Given the description of an element on the screen output the (x, y) to click on. 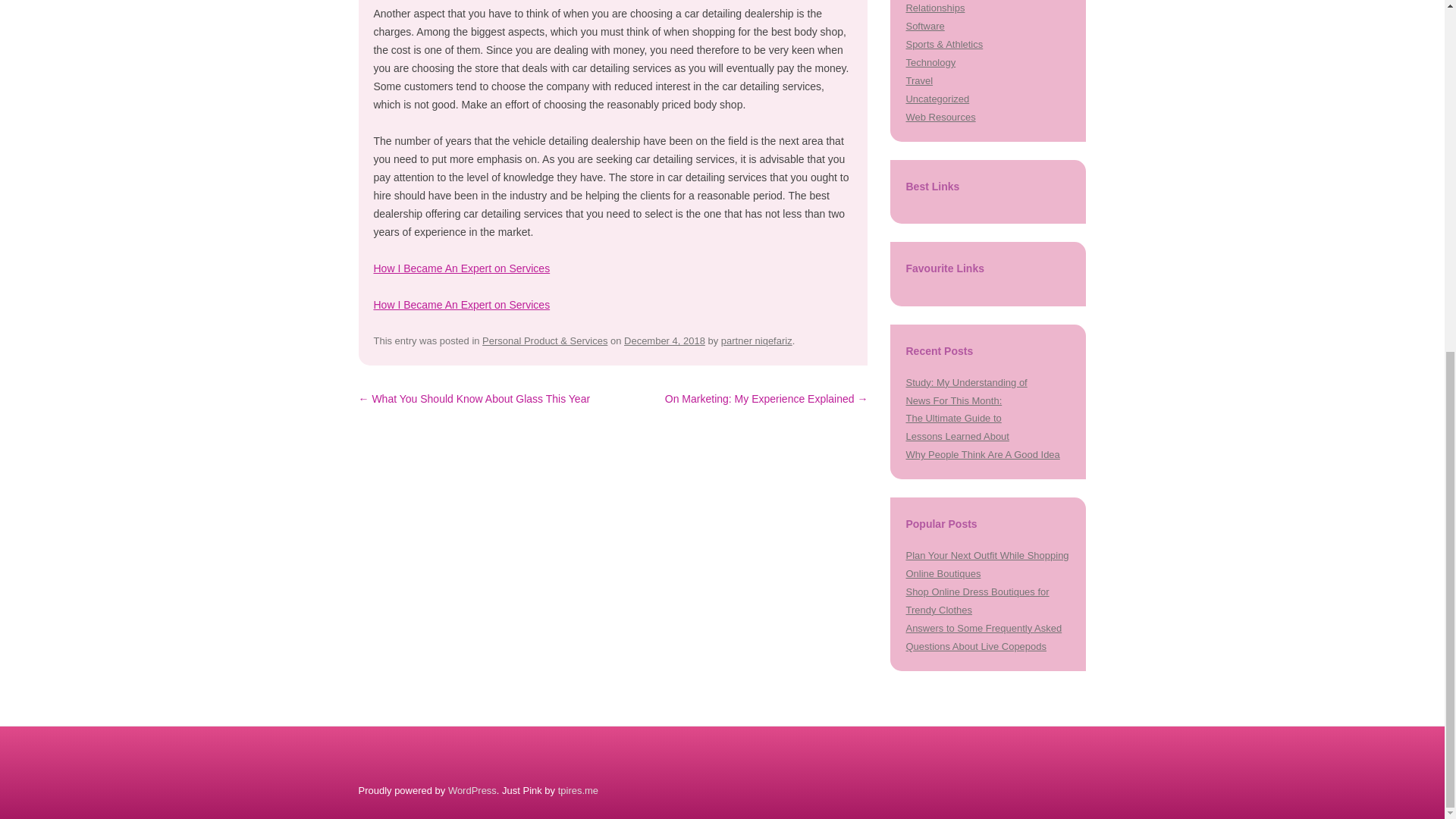
Technology (930, 61)
Uncategorized (937, 98)
Web Resources (940, 116)
Software (924, 25)
Semantic Personal Publishing Platform (472, 790)
How I Became An Expert on Services (461, 304)
Relationships (934, 7)
Shop Online Dress Boutiques for Trendy Clothes (976, 600)
View all posts by partner niqefariz (756, 340)
The Ultimate Guide to (953, 418)
